Given the description of an element on the screen output the (x, y) to click on. 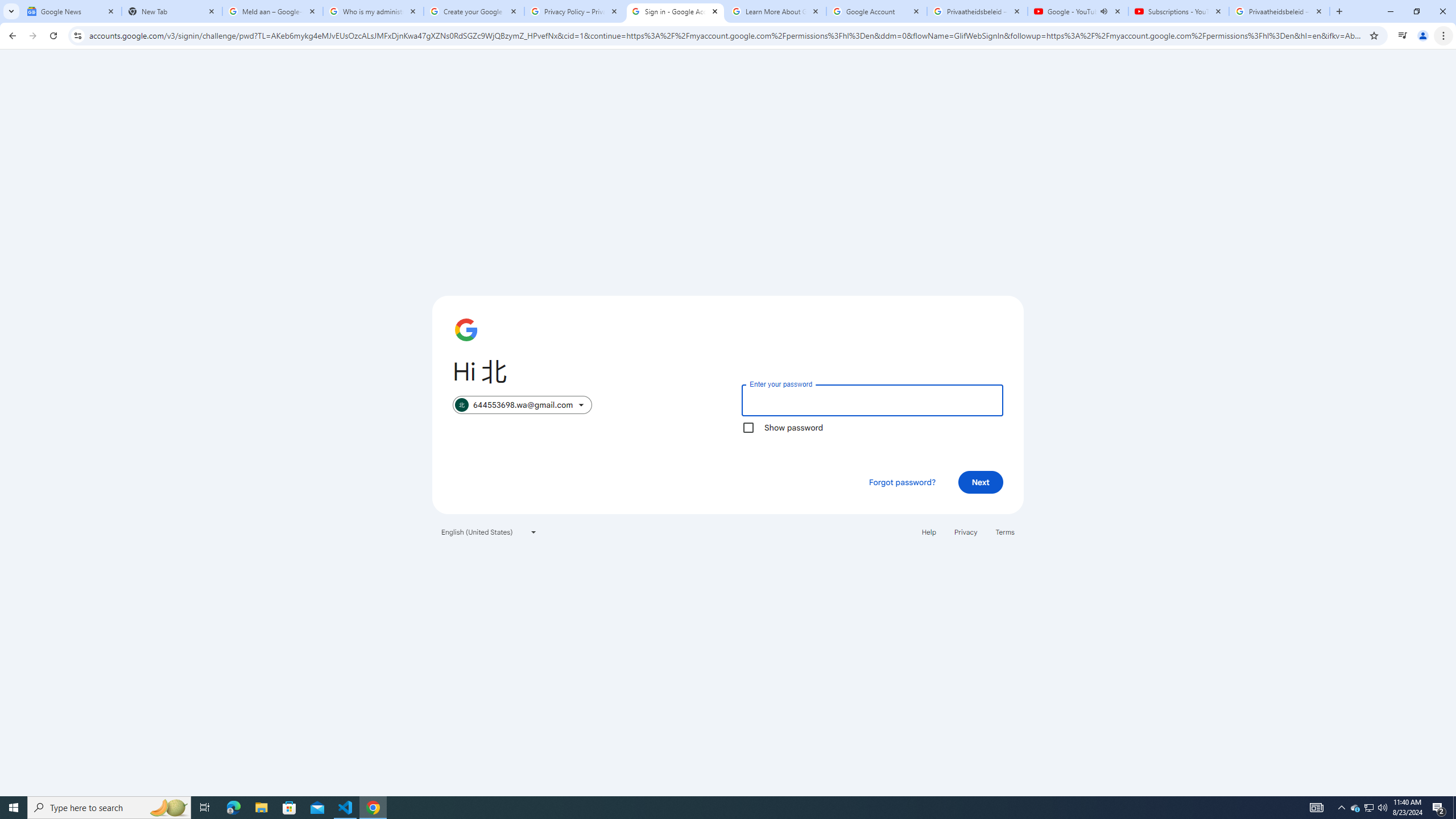
Enter your password (871, 399)
Subscriptions - YouTube (1178, 11)
644553698.wa@gmail.com selected. Switch account (522, 404)
Sign in - Google Accounts (675, 11)
New Tab (171, 11)
English (United States) (489, 531)
